Given the description of an element on the screen output the (x, y) to click on. 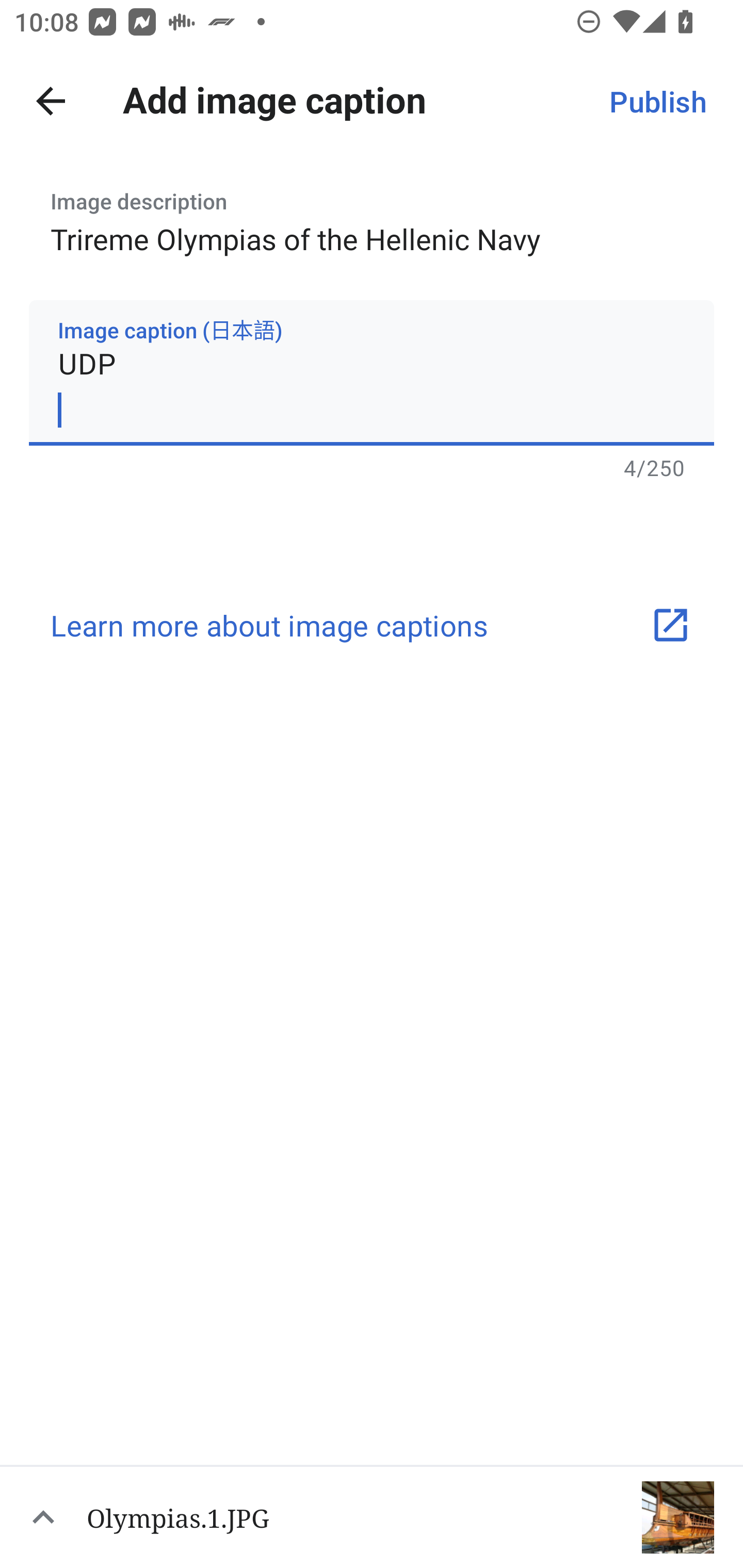
Cancel (50, 101)
Publish (657, 101)
UDP
 (371, 372)
Learn more about image captions (371, 624)
Olympias.1.JPG (371, 1516)
